Given the description of an element on the screen output the (x, y) to click on. 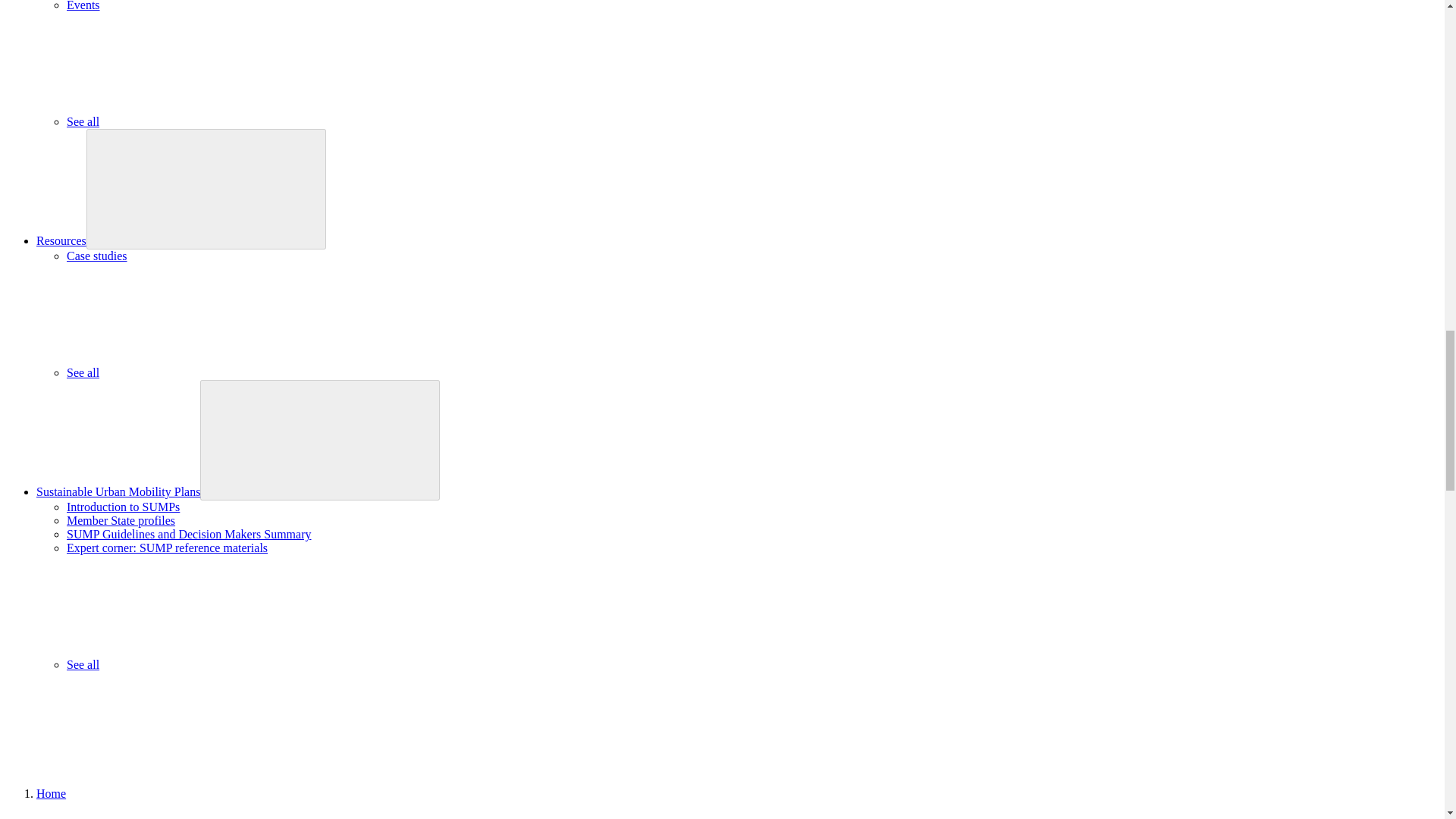
Resources (60, 240)
See all (196, 372)
Member State profiles (120, 520)
Events (83, 5)
See all (196, 121)
Expert corner: SUMP reference materials (166, 547)
Introduction to SUMPs (122, 506)
Home (50, 793)
Case studies (97, 255)
Sustainable Urban Mobility Plans (118, 491)
